Given the description of an element on the screen output the (x, y) to click on. 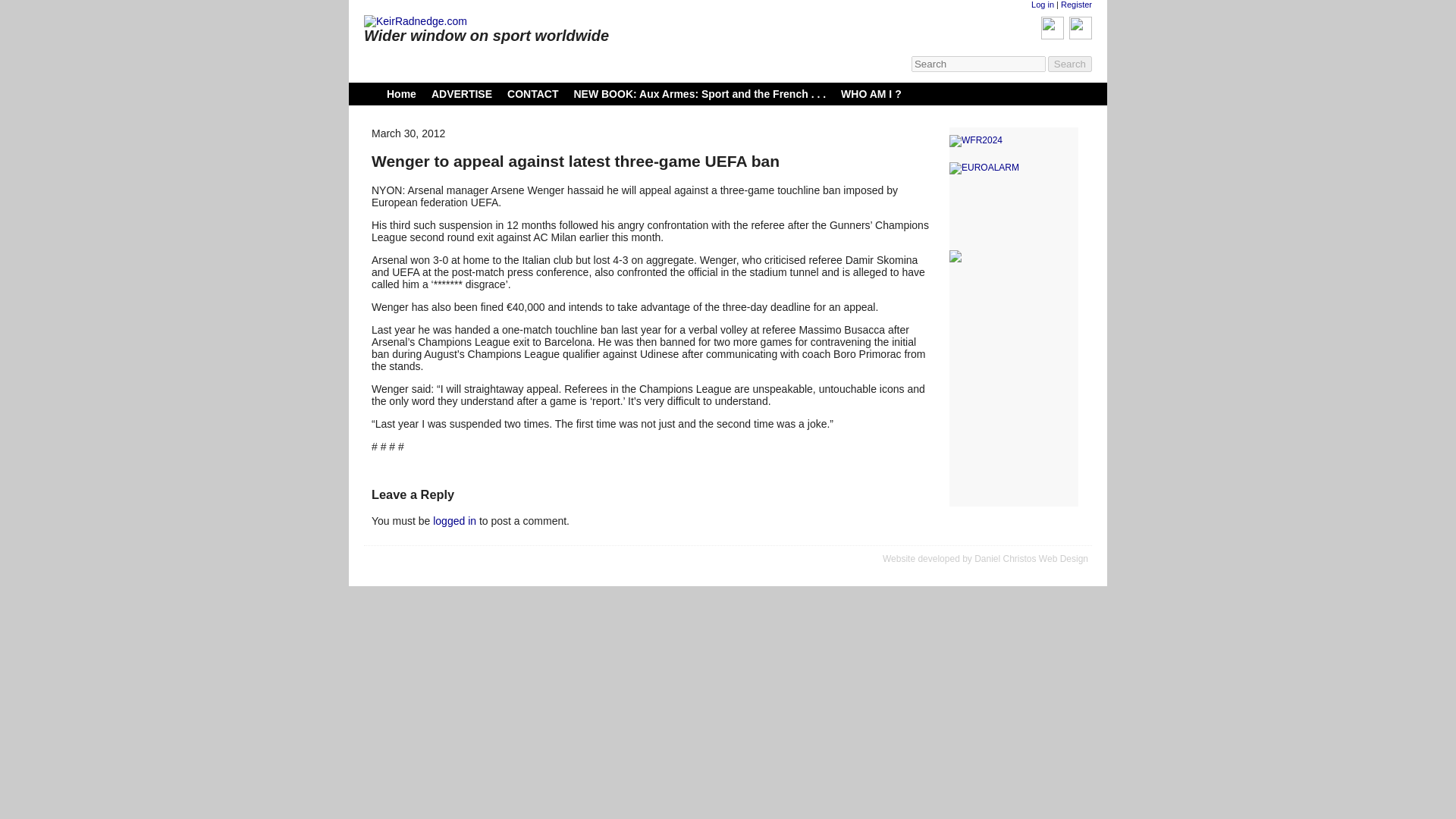
Home (401, 93)
logged in (454, 521)
Daniel Christos Web Design (1030, 558)
NEW BOOK: Aux Armes: Sport and the French . . . (699, 93)
WHO AM I ? (871, 93)
Search (1070, 64)
Register (1076, 4)
CONTACT (531, 93)
Log in (1042, 4)
WFR2024 (1013, 141)
ADVERTISE (461, 93)
Search (1070, 64)
EUROALARM (1013, 168)
